Given the description of an element on the screen output the (x, y) to click on. 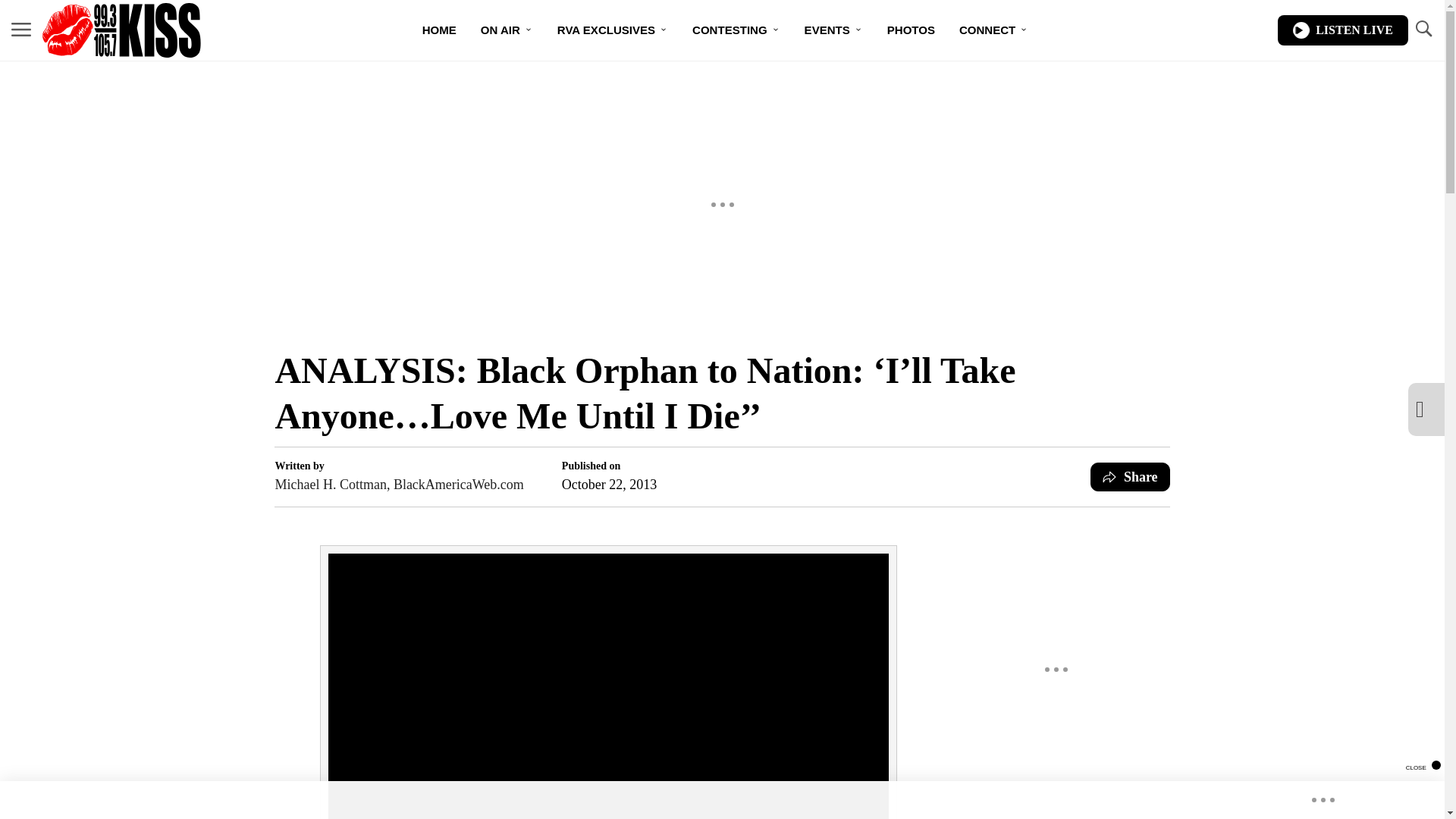
MENU (20, 29)
TOGGLE SEARCH (1422, 30)
MENU (20, 30)
HOME (439, 30)
CONTESTING (735, 30)
CONNECT (994, 30)
ON AIR (506, 30)
PHOTOS (911, 30)
RVA EXCLUSIVES (611, 30)
EVENTS (833, 30)
